Given the description of an element on the screen output the (x, y) to click on. 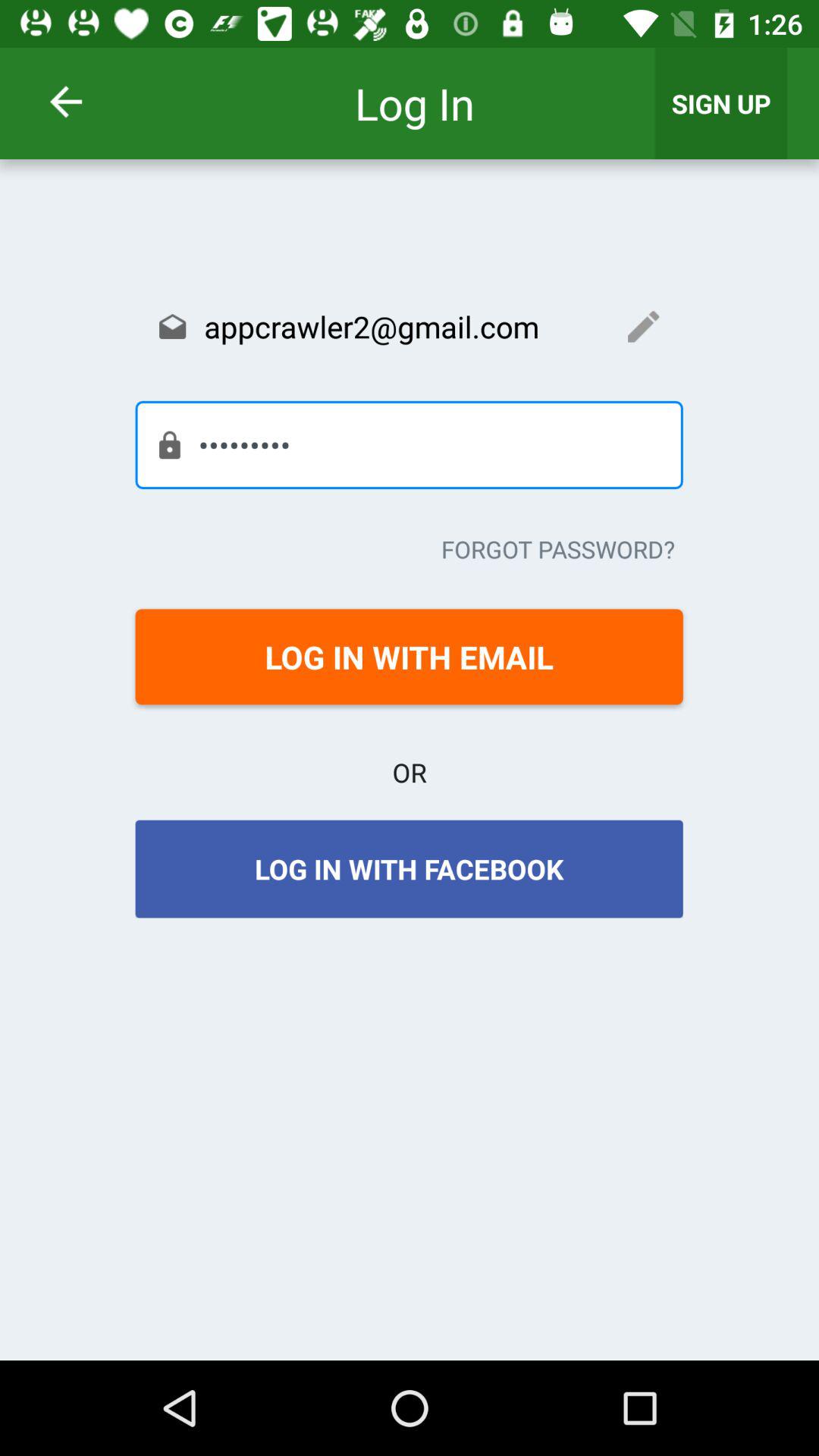
choose the item at the top left corner (85, 101)
